Given the description of an element on the screen output the (x, y) to click on. 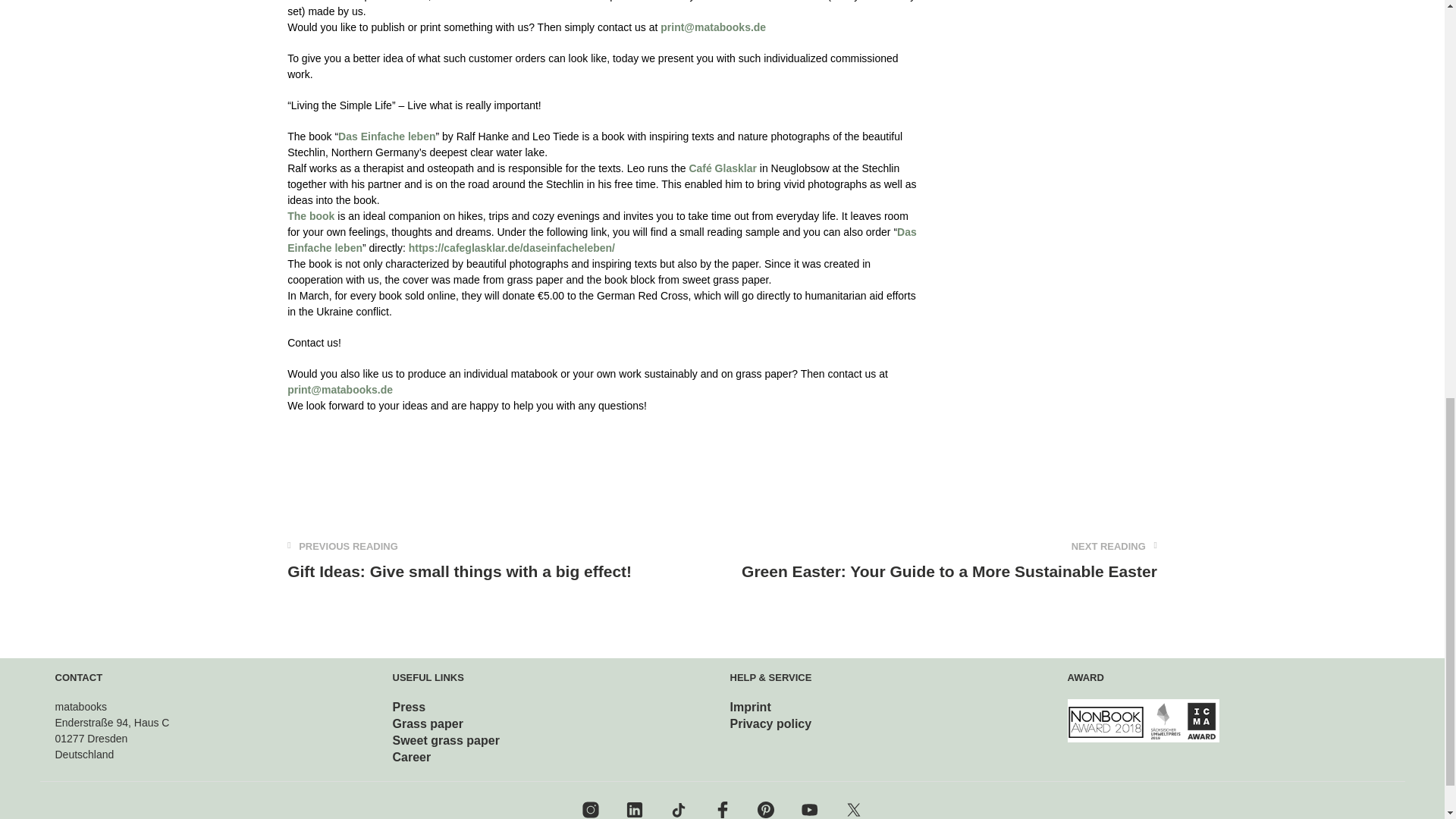
The book (310, 215)
Grass paper (428, 723)
Das Einfache leben (601, 239)
Career (411, 757)
Instagram (589, 809)
Tik Tok (678, 809)
Das Einfache leben (386, 136)
Linkedin (634, 809)
Press (409, 707)
Sweet grass paper (446, 739)
